Given the description of an element on the screen output the (x, y) to click on. 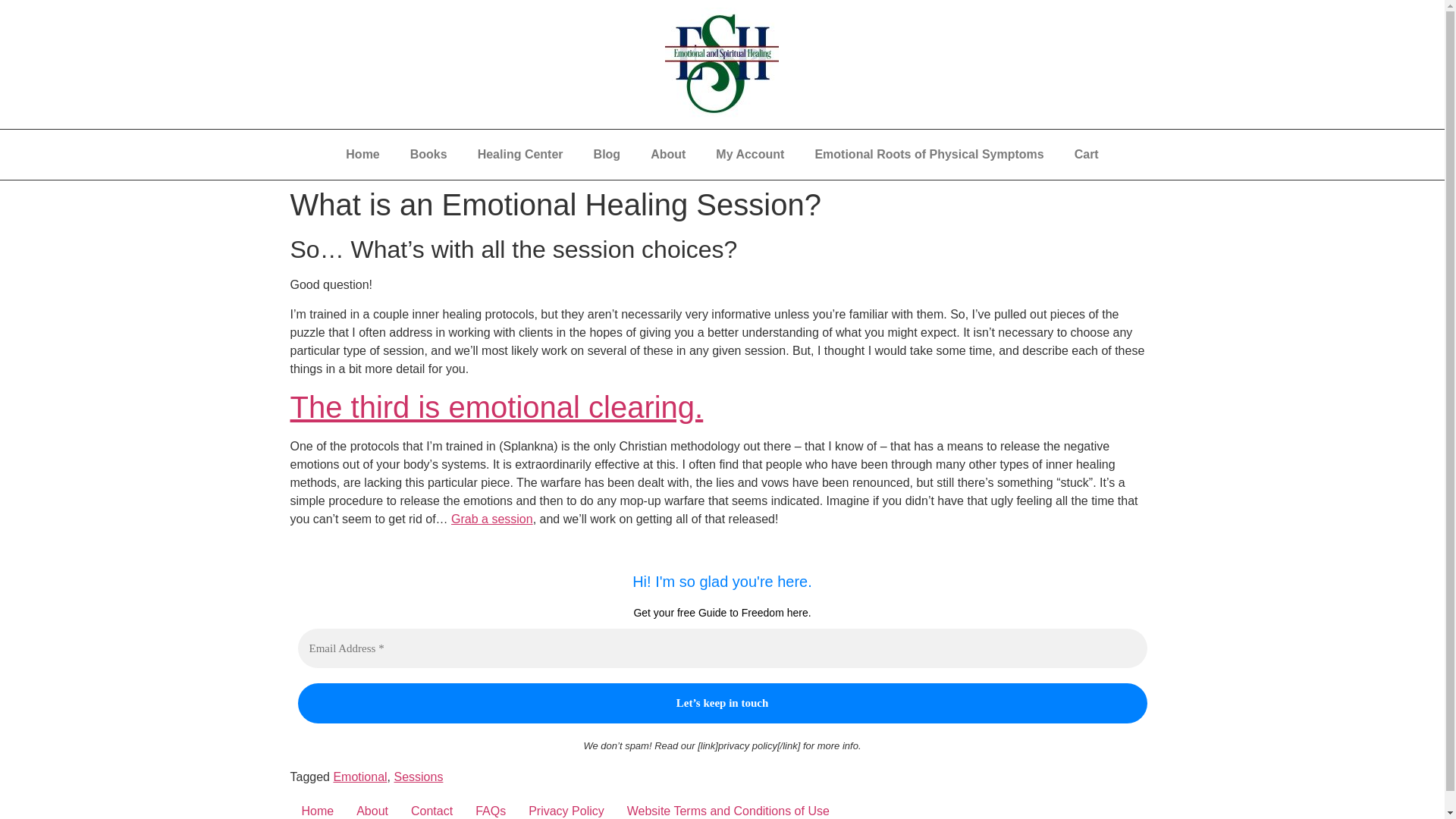
Healing Center (520, 154)
The third is emotional clearing. (496, 407)
About (667, 154)
Home (317, 808)
Emotional Roots of Physical Symptoms (928, 154)
FAQs (490, 808)
My Account (749, 154)
Books (428, 154)
Website Terms and Conditions of Use (728, 808)
Emotional (360, 776)
